Given the description of an element on the screen output the (x, y) to click on. 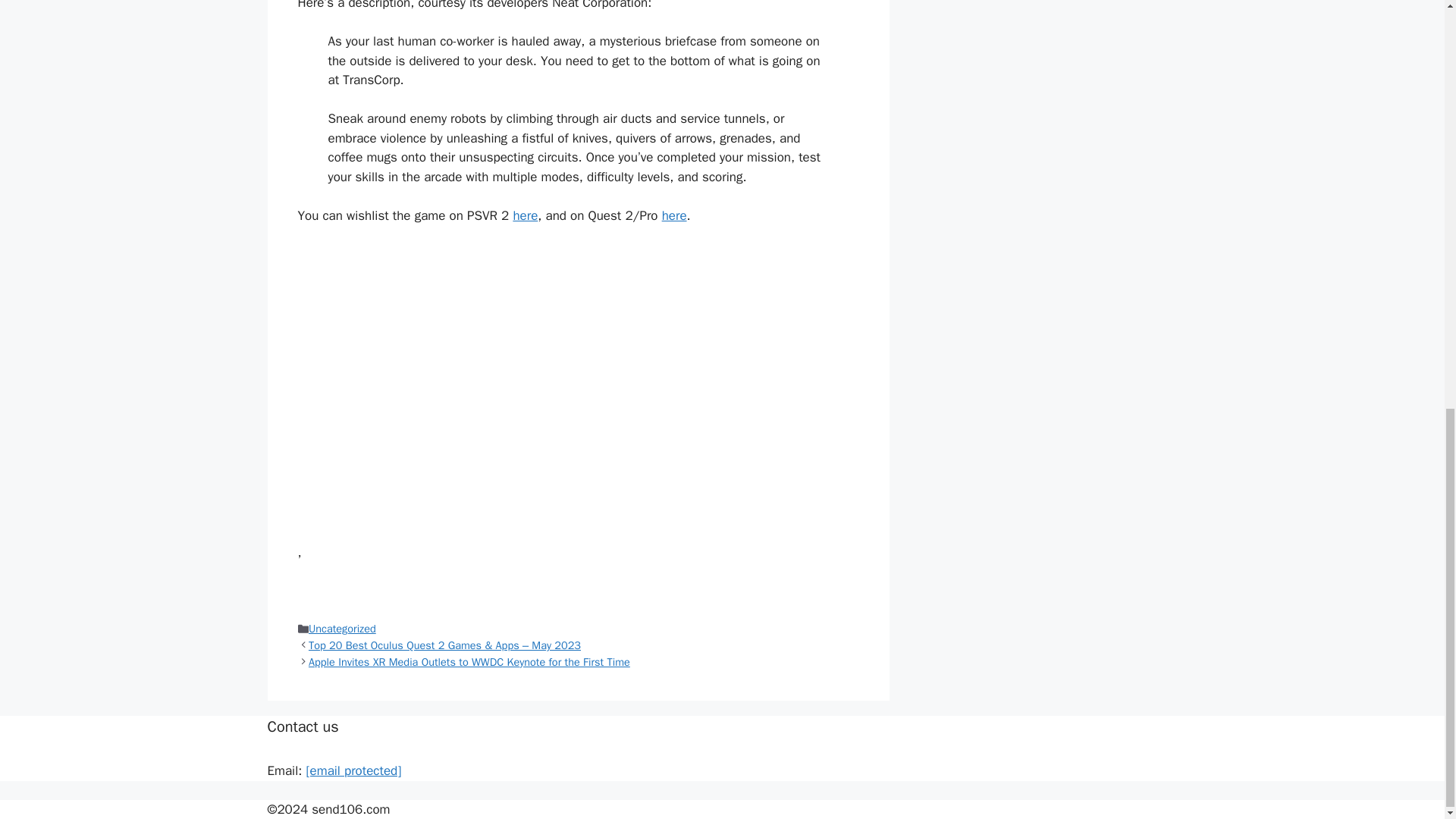
here (674, 215)
Uncategorized (341, 628)
here (524, 215)
